Given the description of an element on the screen output the (x, y) to click on. 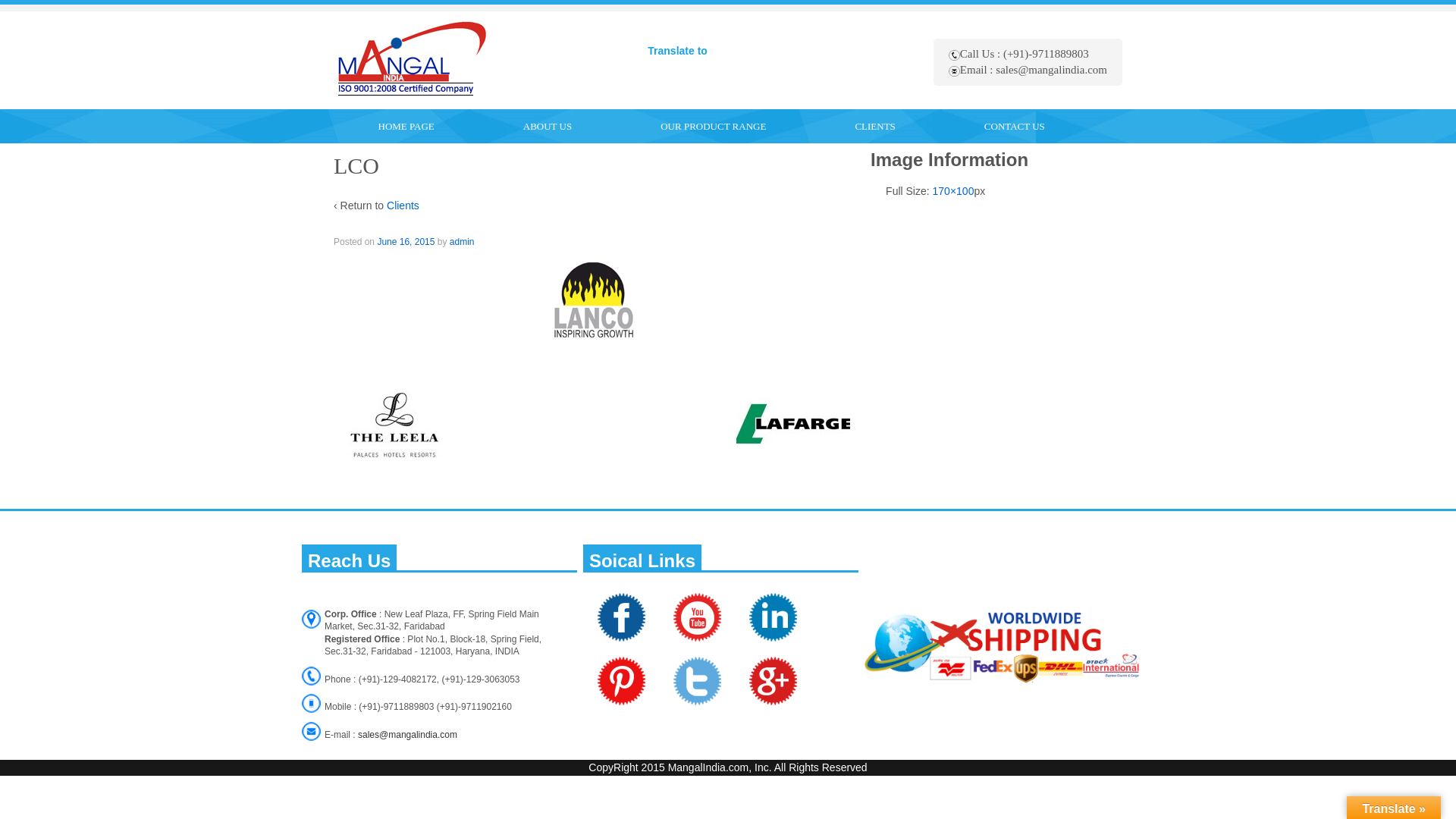
lco (405, 241)
June 16, 2015 (405, 241)
CONTACT US (1014, 125)
ABOUT US (547, 125)
CLIENTS (874, 125)
Clients (403, 205)
OUR PRODUCT RANGE (712, 125)
HOME PAGE (406, 125)
admin (461, 241)
View all posts by admin (461, 241)
